Given the description of an element on the screen output the (x, y) to click on. 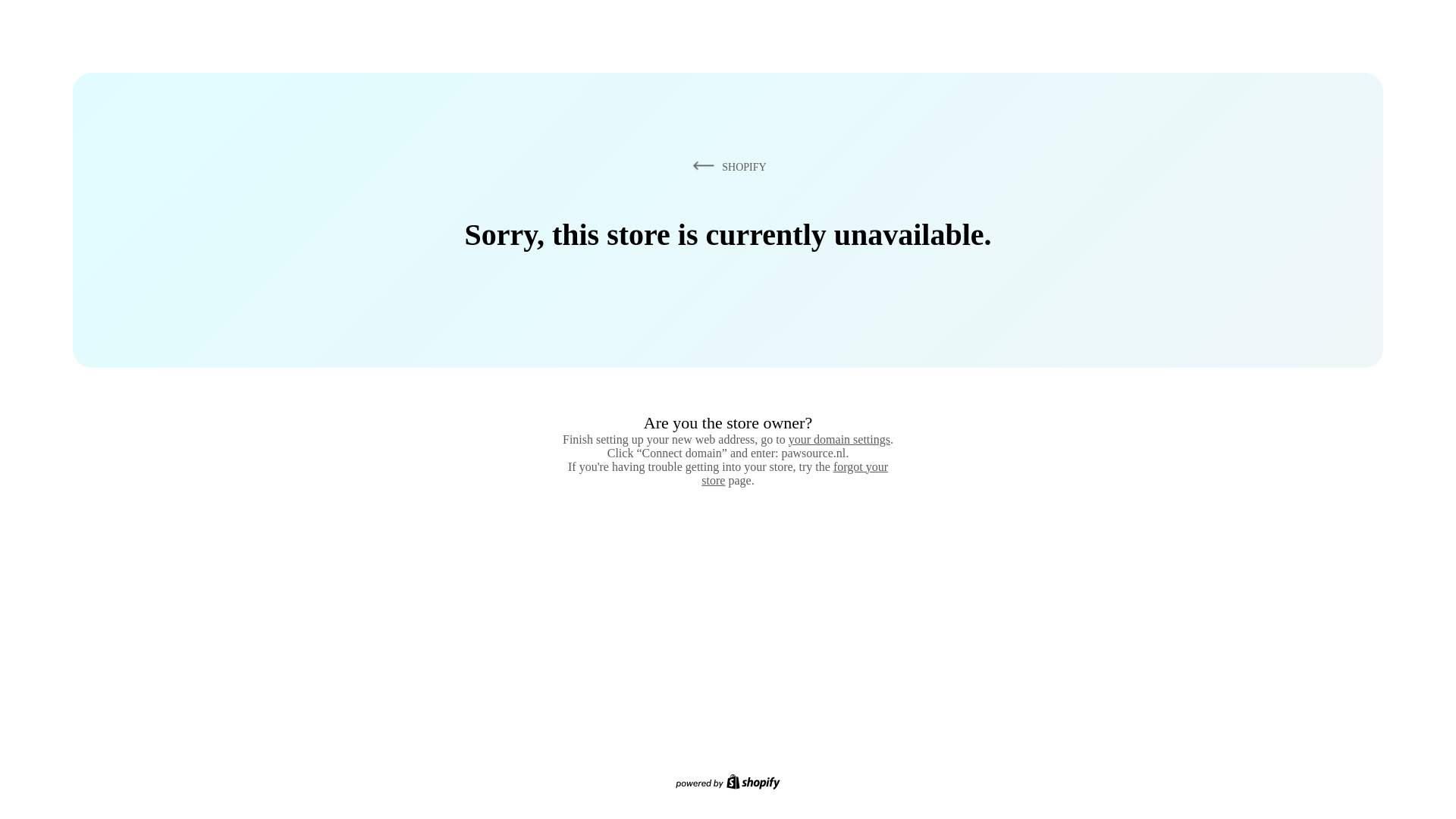
forgot your store (794, 473)
your domain settings (839, 439)
SHOPIFY (726, 166)
